Given the description of an element on the screen output the (x, y) to click on. 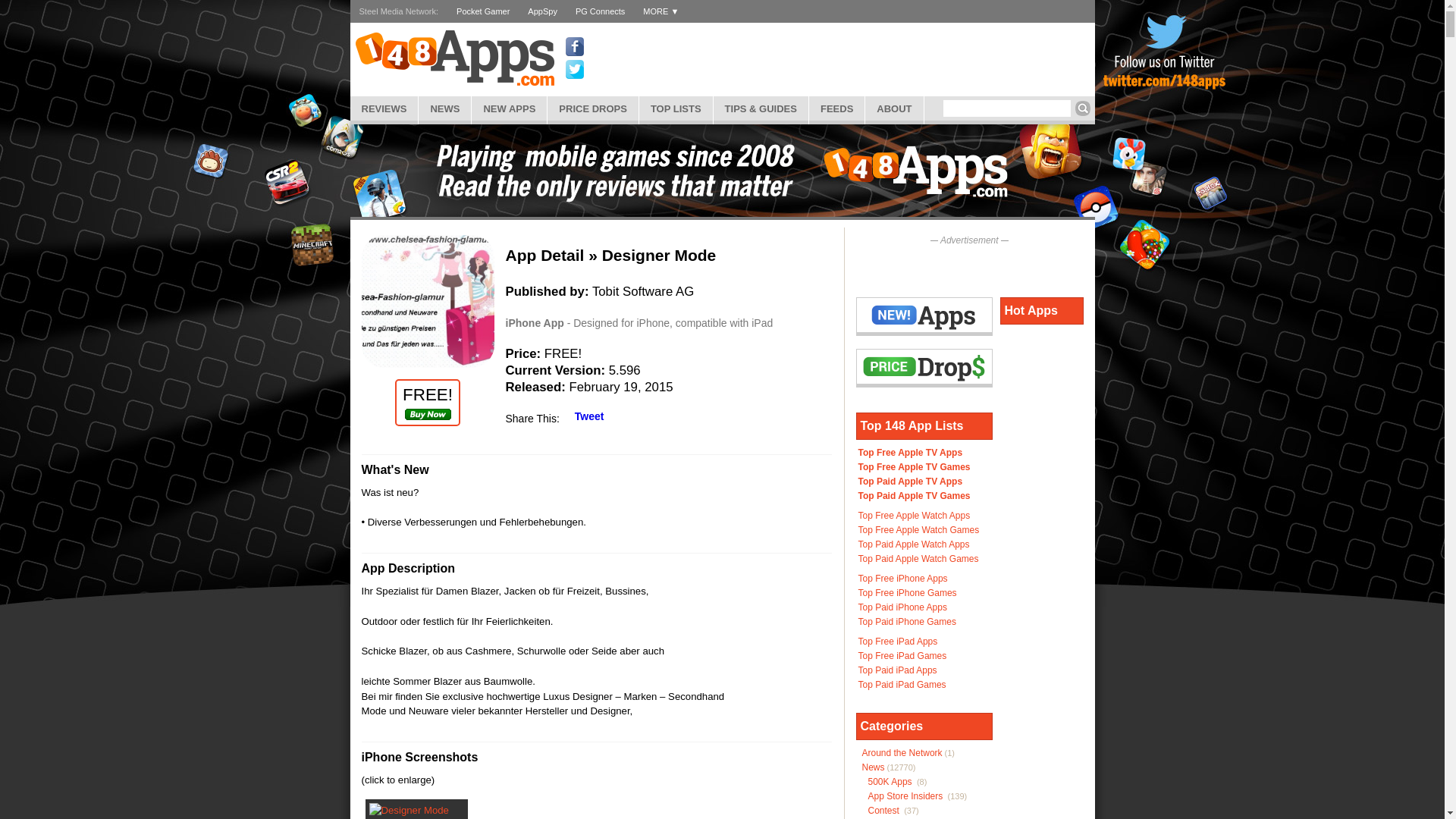
ABOUT Element type: text (893, 108)
Top Free iPhone Games Element type: text (907, 592)
Top Paid iPad Apps Element type: text (897, 670)
Contest Element type: text (882, 810)
FREE! Element type: text (427, 402)
Around the Network Element type: text (901, 752)
Top Free Apple Watch Games Element type: text (918, 529)
Top Paid Apple Watch Apps Element type: text (913, 544)
News Element type: text (872, 767)
Tweet Element type: text (589, 416)
FEEDS Element type: text (836, 108)
Top Free iPad Games Element type: text (902, 655)
Top Paid Apple TV Apps Element type: text (910, 481)
AppSpy Element type: text (542, 10)
500K Apps Element type: text (889, 781)
NEW APPS Element type: text (508, 108)
PG Connects Element type: text (599, 10)
App Store Insiders Element type: text (904, 795)
NEWS Element type: text (444, 108)
Top Paid iPhone Games Element type: text (907, 621)
Top Paid Apple Watch Games Element type: text (918, 558)
REVIEWS Element type: text (384, 108)
PRICE DROPS Element type: text (592, 108)
Top Paid Apple TV Games Element type: text (914, 495)
Top Free Apple TV Apps Element type: text (910, 452)
Top Free Apple Watch Apps Element type: text (914, 515)
Top Paid iPhone Apps Element type: text (902, 607)
Top Free iPad Apps Element type: text (898, 641)
Click to go back to the home page Element type: hover (454, 57)
TOP LISTS Element type: text (675, 108)
Top Free iPhone Apps Element type: text (902, 578)
TIPS & GUIDES Element type: text (760, 108)
Pocket Gamer Element type: text (482, 10)
Top Free Apple TV Games Element type: text (914, 466)
Top Paid iPad Games Element type: text (902, 684)
